Given the description of an element on the screen output the (x, y) to click on. 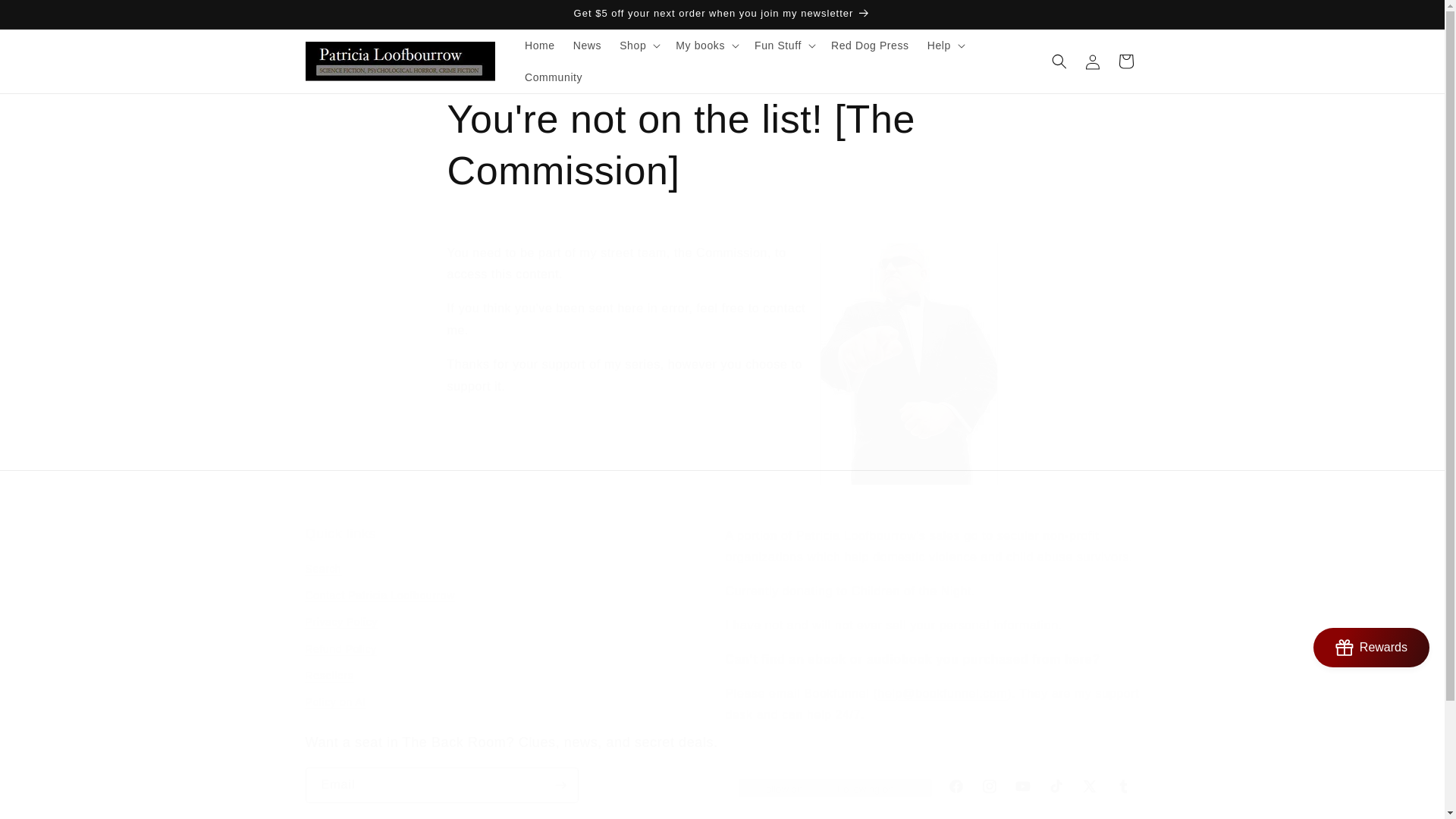
Skip to content (46, 18)
